Given the description of an element on the screen output the (x, y) to click on. 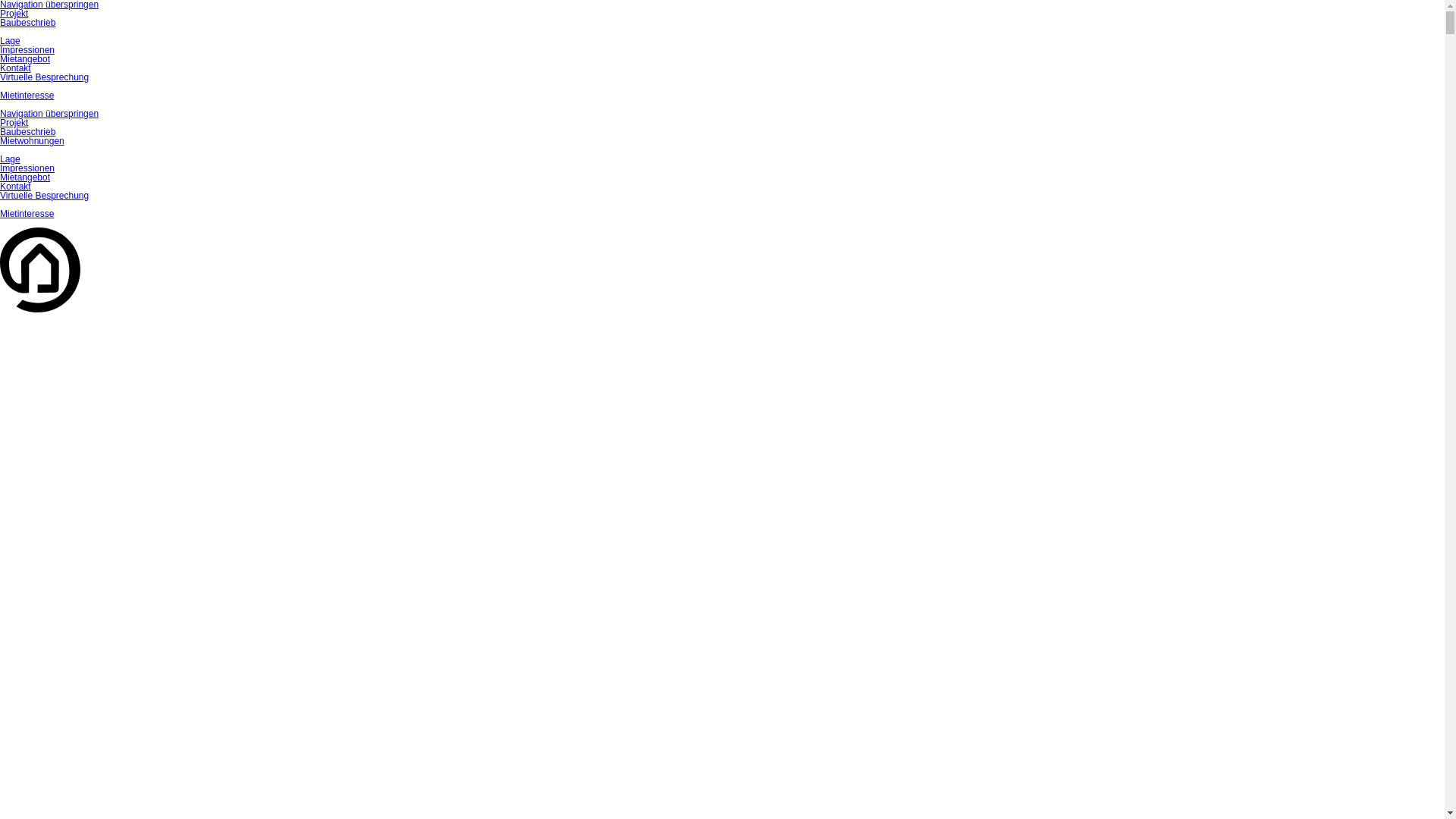
Kontakt Element type: text (15, 186)
Mietwohnungen Element type: text (32, 140)
Lage Element type: text (10, 40)
Mietangebot Element type: text (25, 58)
Mietinteresse Element type: text (26, 213)
Mietangebot Element type: text (25, 177)
Lage Element type: text (10, 158)
Baubeschrieb Element type: text (27, 22)
Projekt Element type: text (14, 13)
Baubeschrieb Element type: text (27, 131)
Virtuelle Besprechung Element type: text (44, 77)
Mietinteresse Element type: text (26, 95)
Virtuelle Besprechung Element type: text (44, 195)
Kontakt Element type: text (15, 67)
Projekt Element type: text (14, 122)
Impressionen Element type: text (27, 168)
Impressionen Element type: text (27, 49)
